Given the description of an element on the screen output the (x, y) to click on. 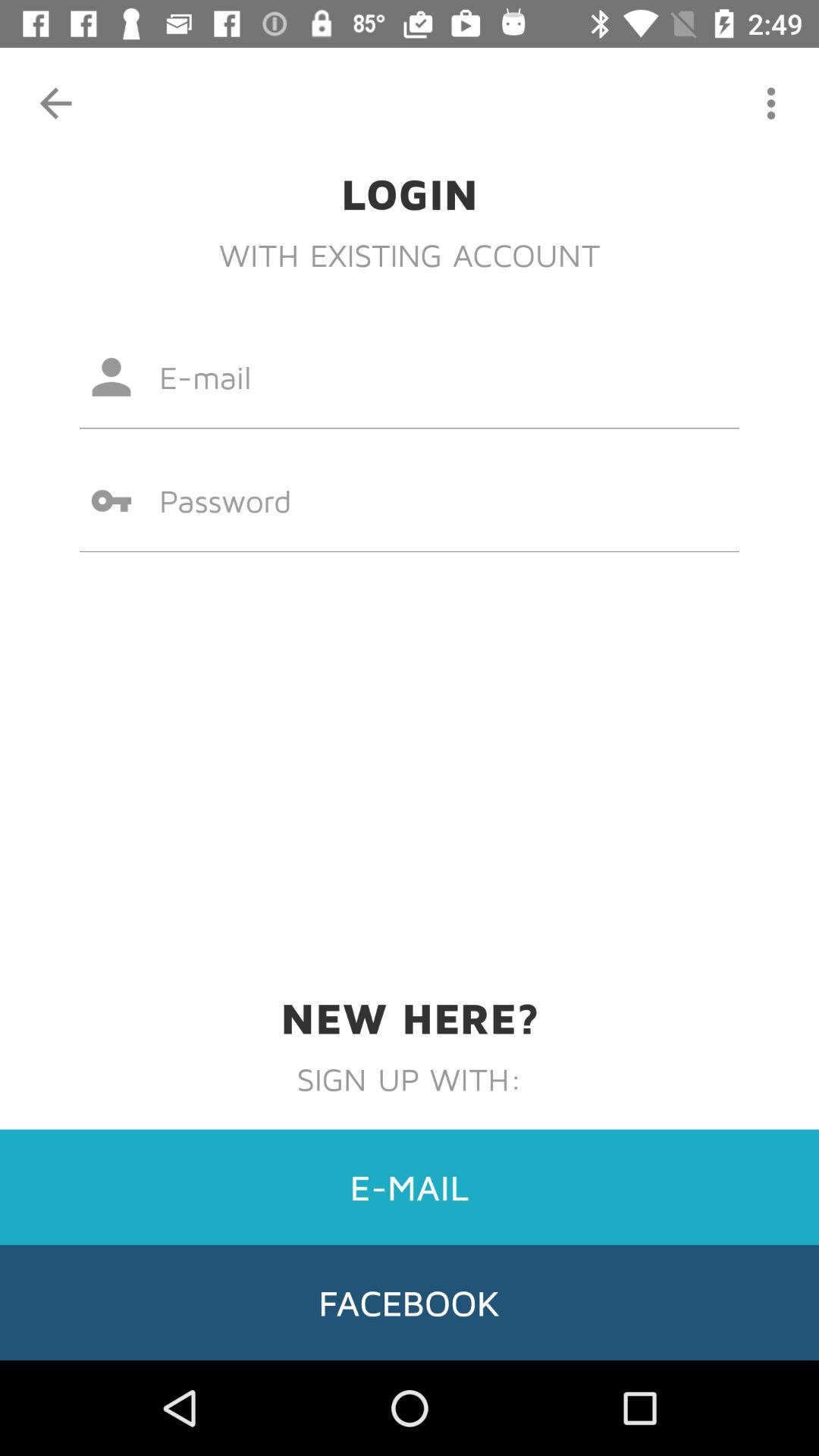
launch icon above login icon (55, 103)
